Given the description of an element on the screen output the (x, y) to click on. 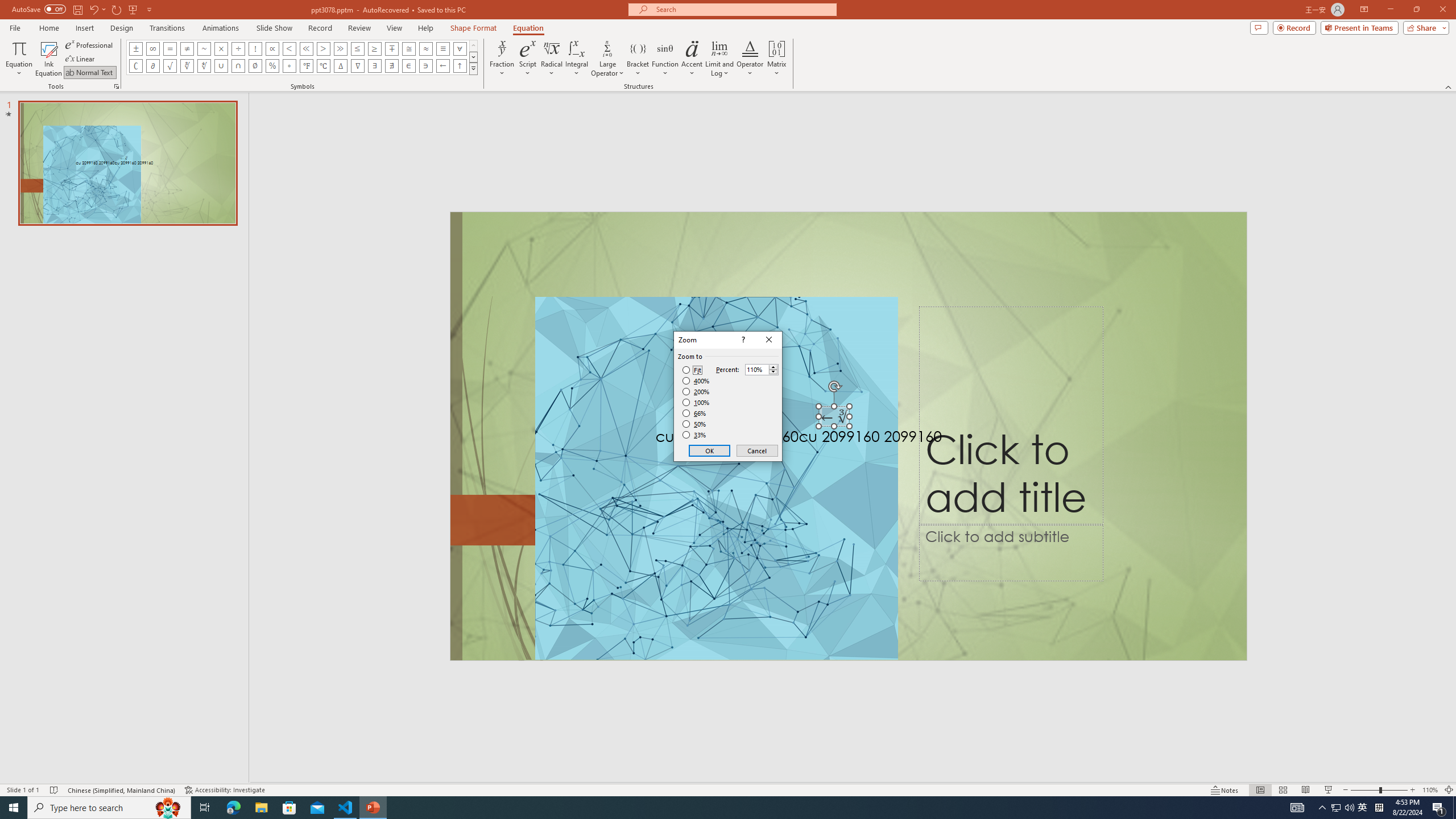
Context help (742, 339)
200% (696, 391)
Equation Symbol Proportional To (272, 48)
OK (709, 450)
Equation Symbol Degrees Celsius (322, 65)
Integral (576, 58)
Accent (691, 58)
Equation Symbol Nabla (357, 65)
Equation Symbol Union (221, 65)
